Given the description of an element on the screen output the (x, y) to click on. 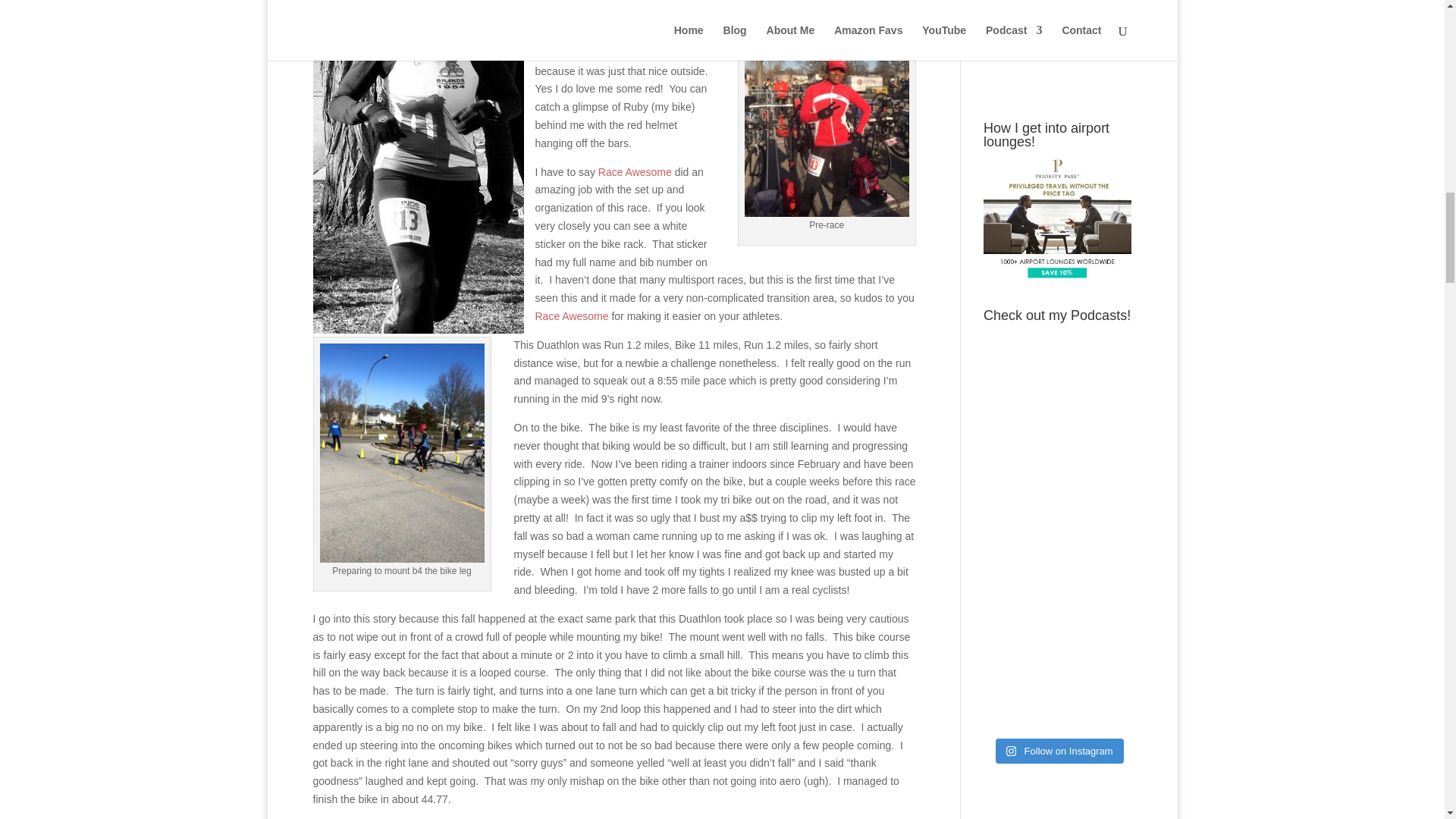
Race Awesome (634, 172)
Race Awesome (571, 316)
